Given the description of an element on the screen output the (x, y) to click on. 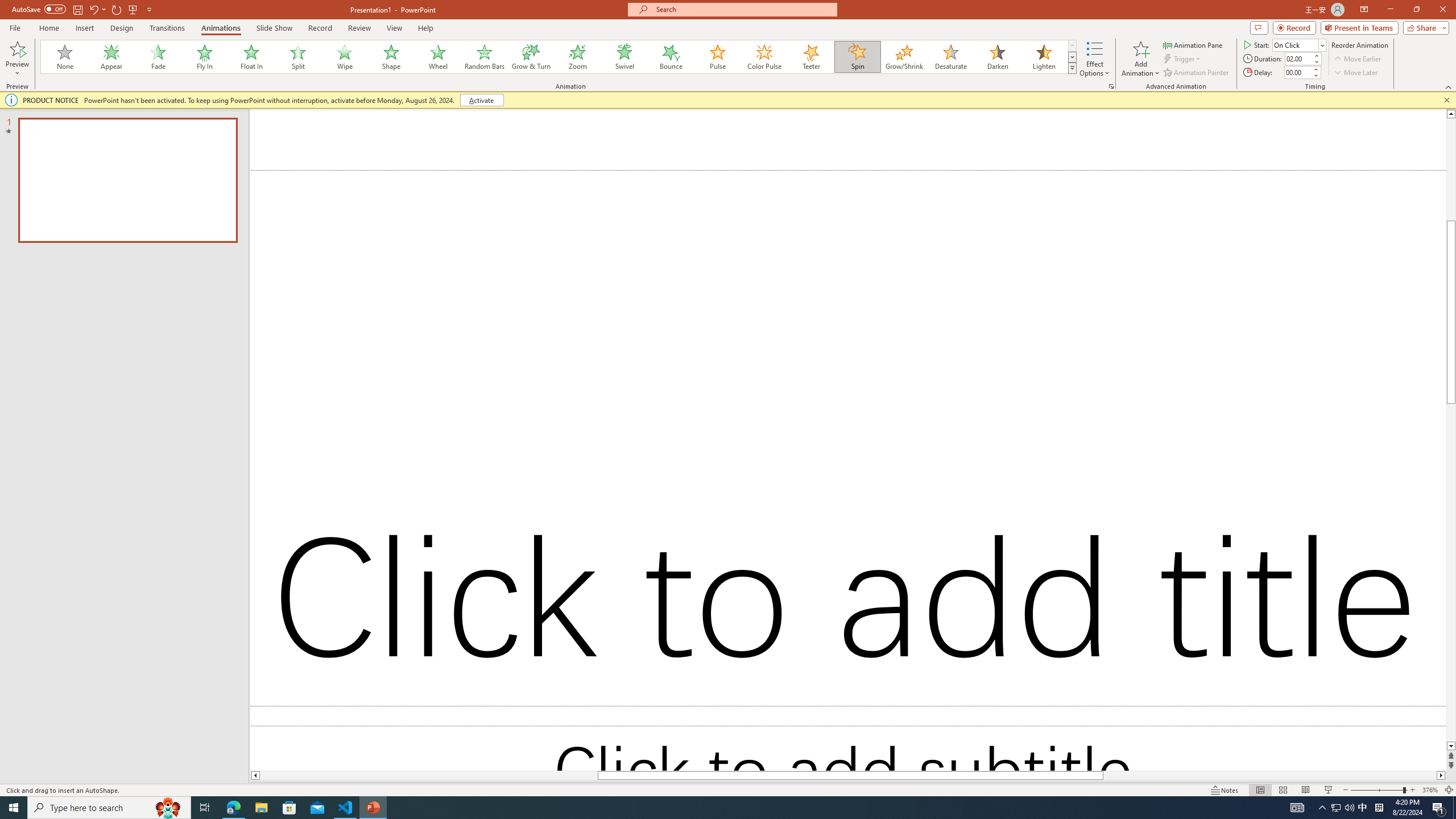
Row up (1071, 45)
Effect Options (1094, 58)
Row Down (1071, 56)
Pulse (717, 56)
Grow & Turn (531, 56)
Trigger (1182, 58)
Swivel (624, 56)
Preview (17, 58)
